Given the description of an element on the screen output the (x, y) to click on. 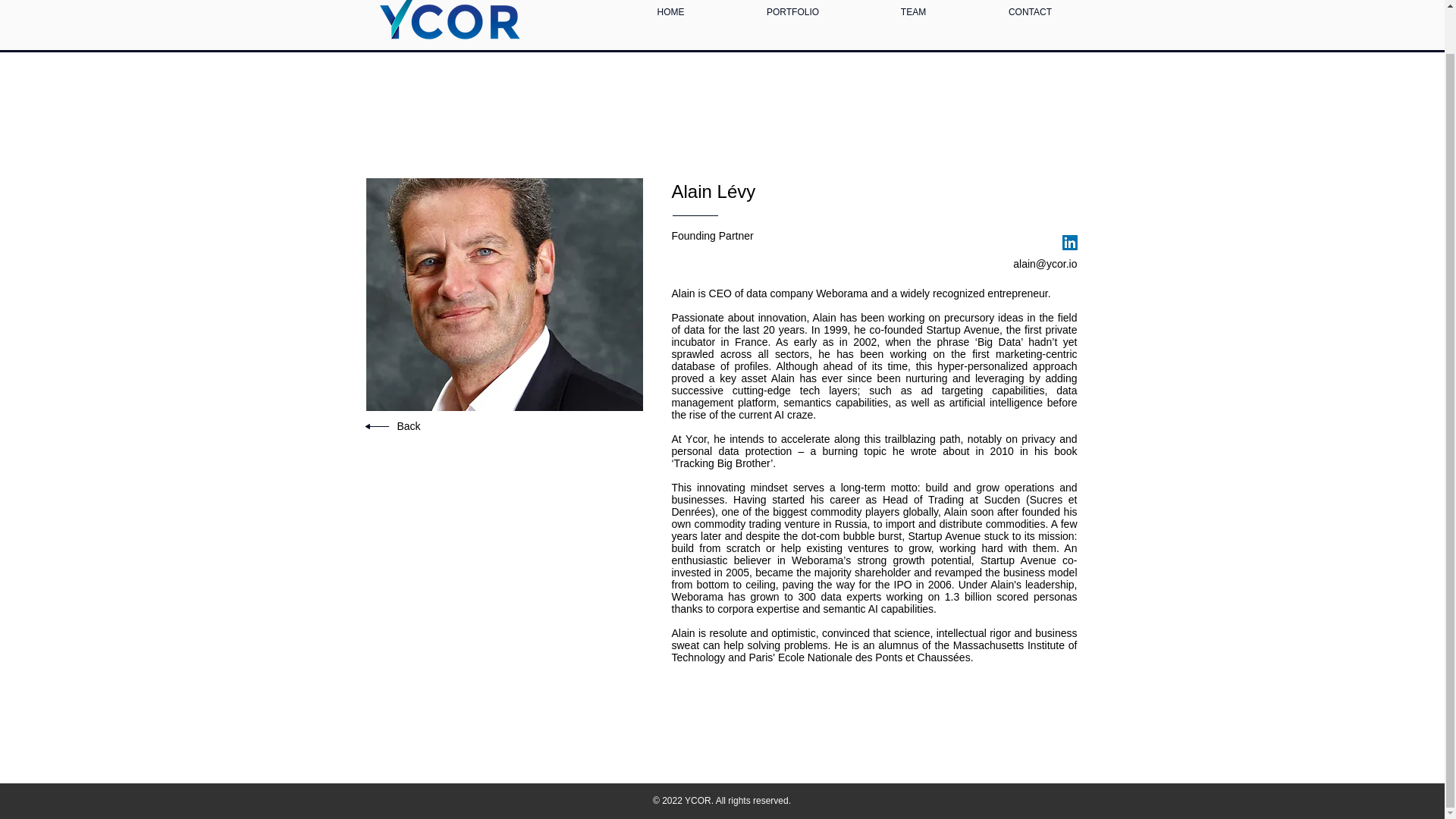
PORTFOLIO (793, 26)
CONTACT (1030, 26)
Back (408, 426)
HOME (670, 26)
TEAM (914, 26)
